Given the description of an element on the screen output the (x, y) to click on. 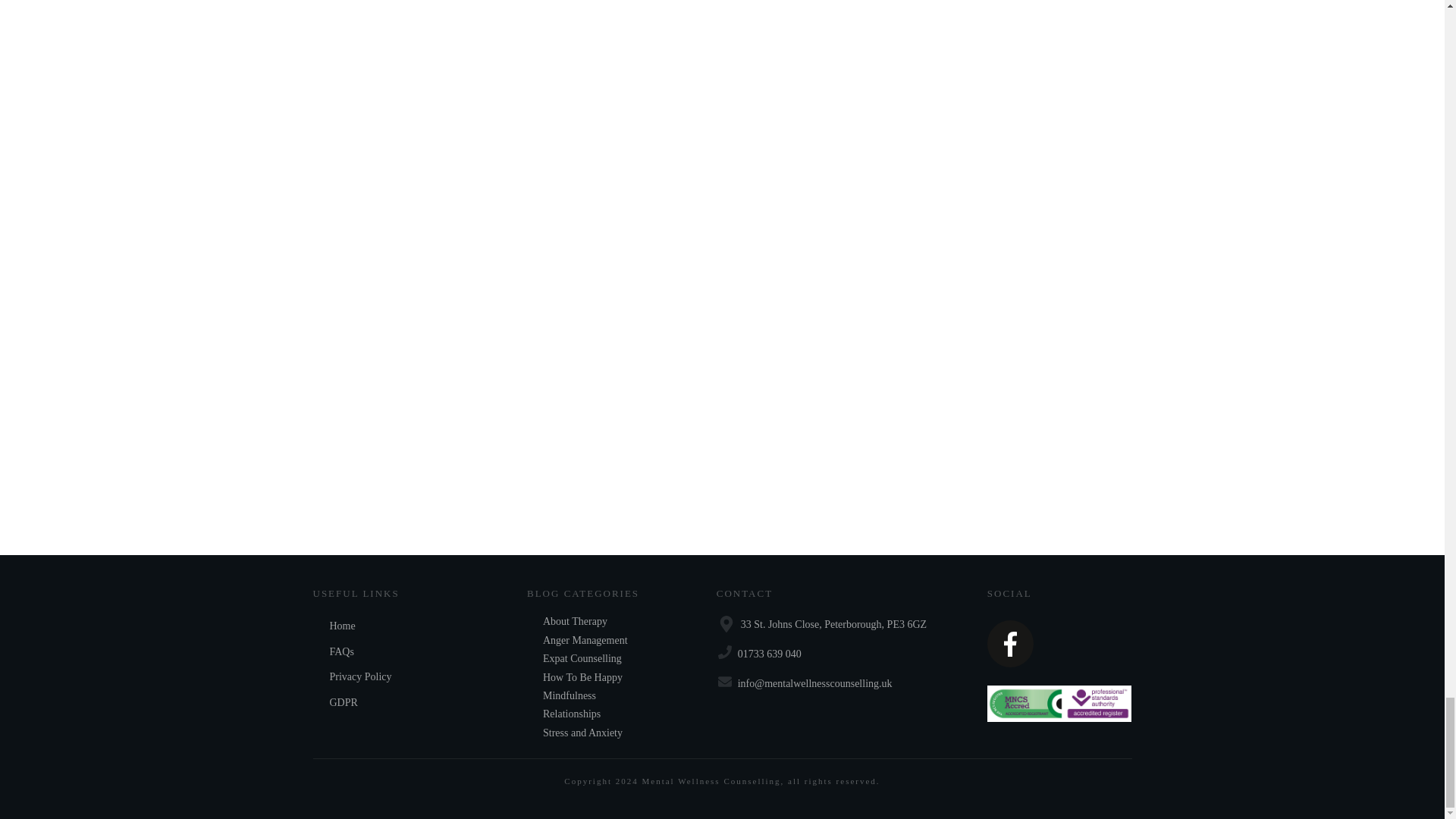
mncs-accred-logo (1059, 703)
